Given the description of an element on the screen output the (x, y) to click on. 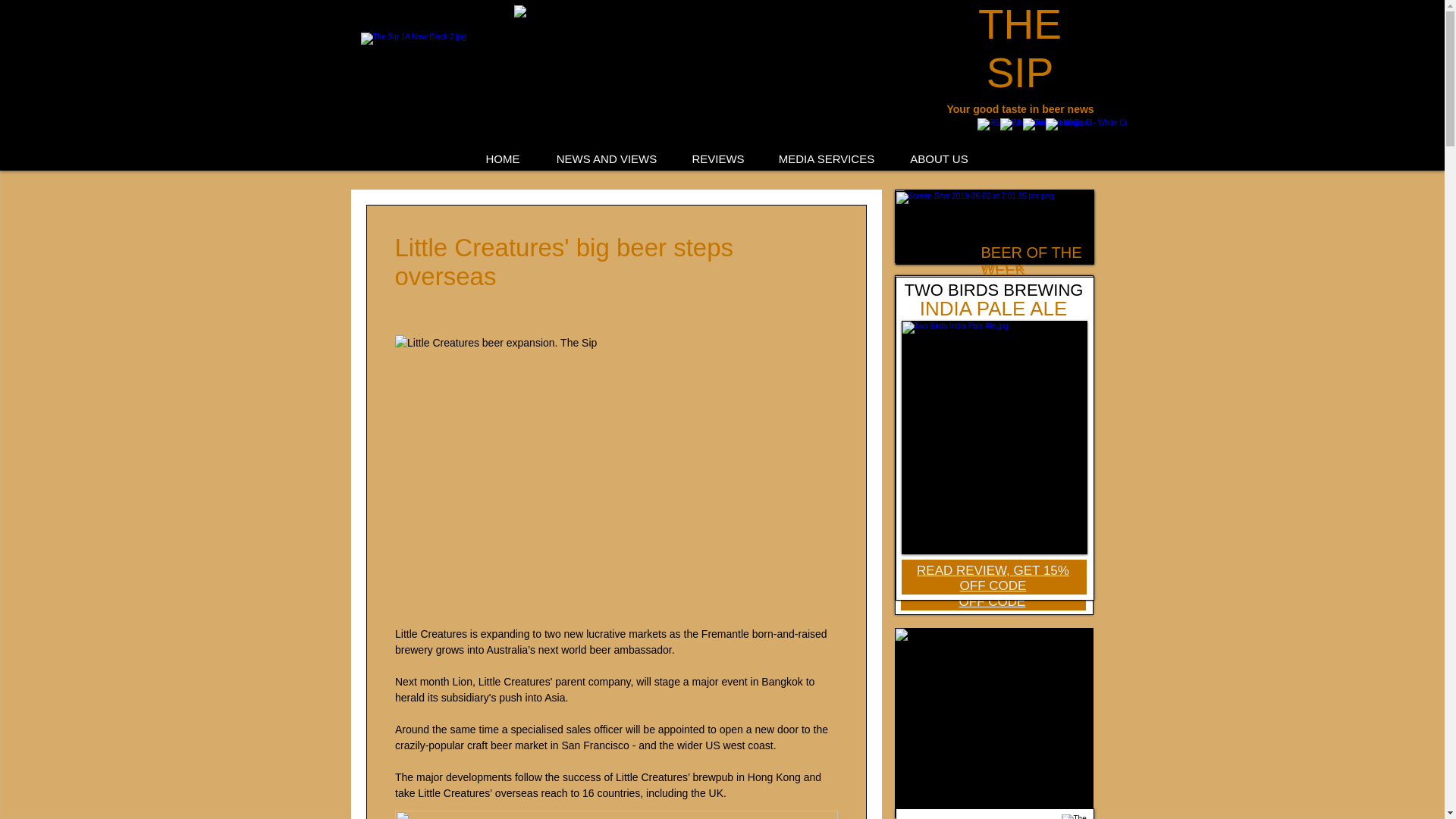
NEWS AND VIEWS (606, 159)
The Sip beer (420, 90)
ABOUT US (939, 159)
REVIEWS (718, 159)
The Sip Black 75.jpg (1075, 816)
HOME (502, 159)
THE SIP BEER MAIL (975, 816)
MEDIA SERVICES (826, 159)
